Given the description of an element on the screen output the (x, y) to click on. 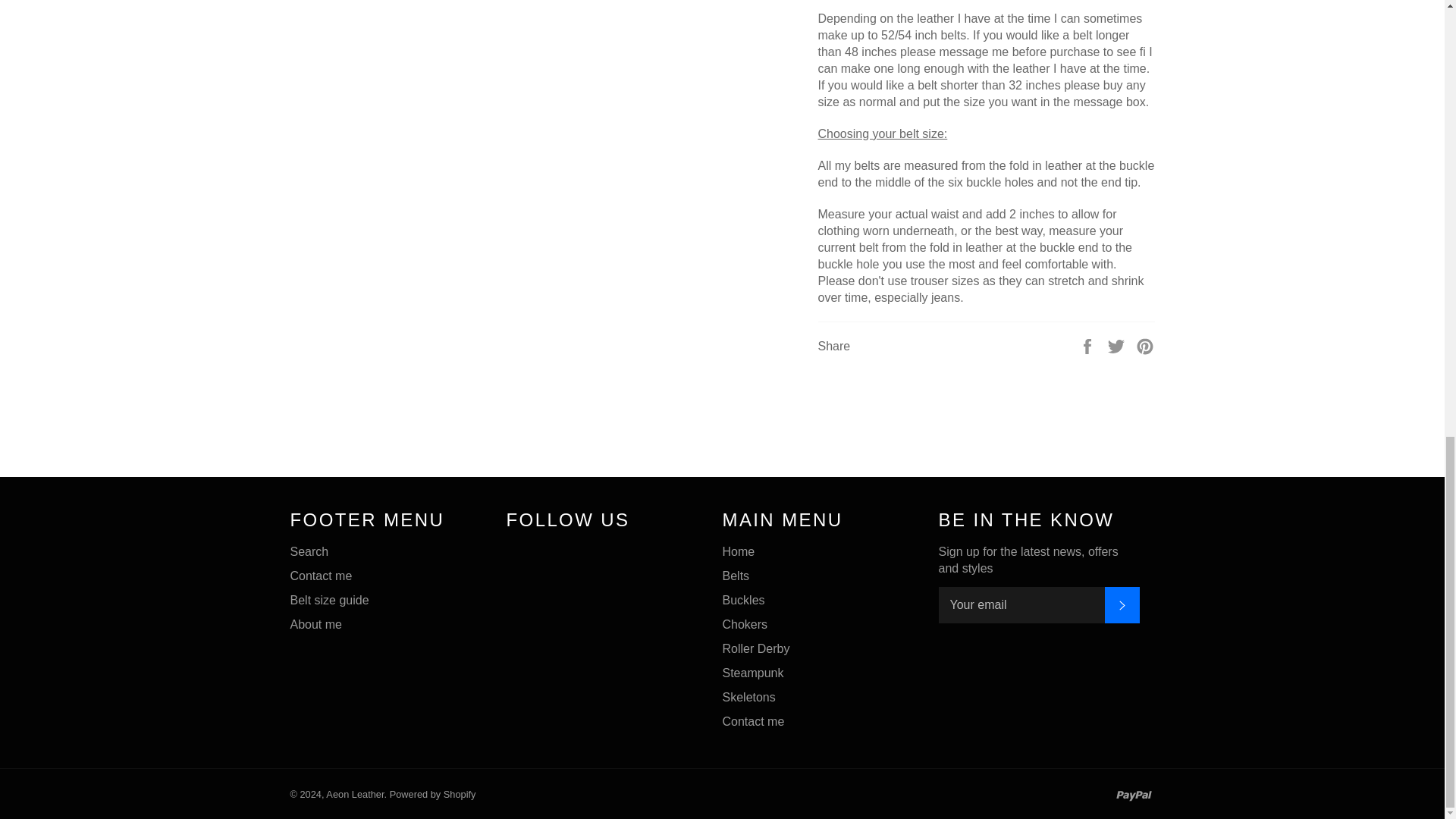
Share on Facebook (1088, 345)
Pin on Pinterest (1144, 345)
Tweet on Twitter (1117, 345)
